Given the description of an element on the screen output the (x, y) to click on. 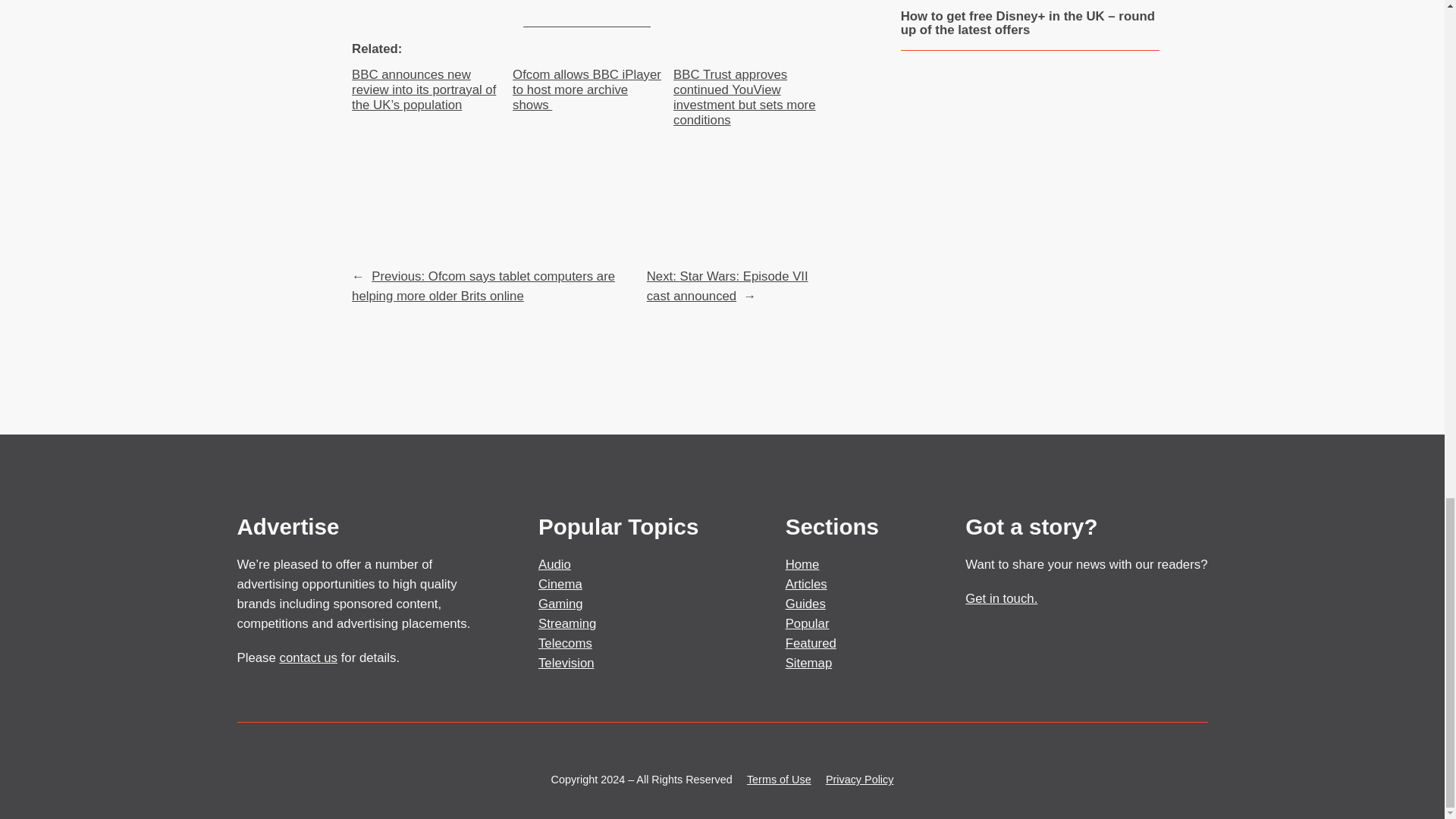
Gaming (560, 603)
contact us (308, 657)
Next: Star Wars: Episode VII cast announced (727, 286)
Ofcom allows BBC iPlayer to host more archive shows  (586, 90)
Audio (554, 564)
Streaming (566, 623)
Telecoms (565, 643)
Cinema (560, 584)
